Given the description of an element on the screen output the (x, y) to click on. 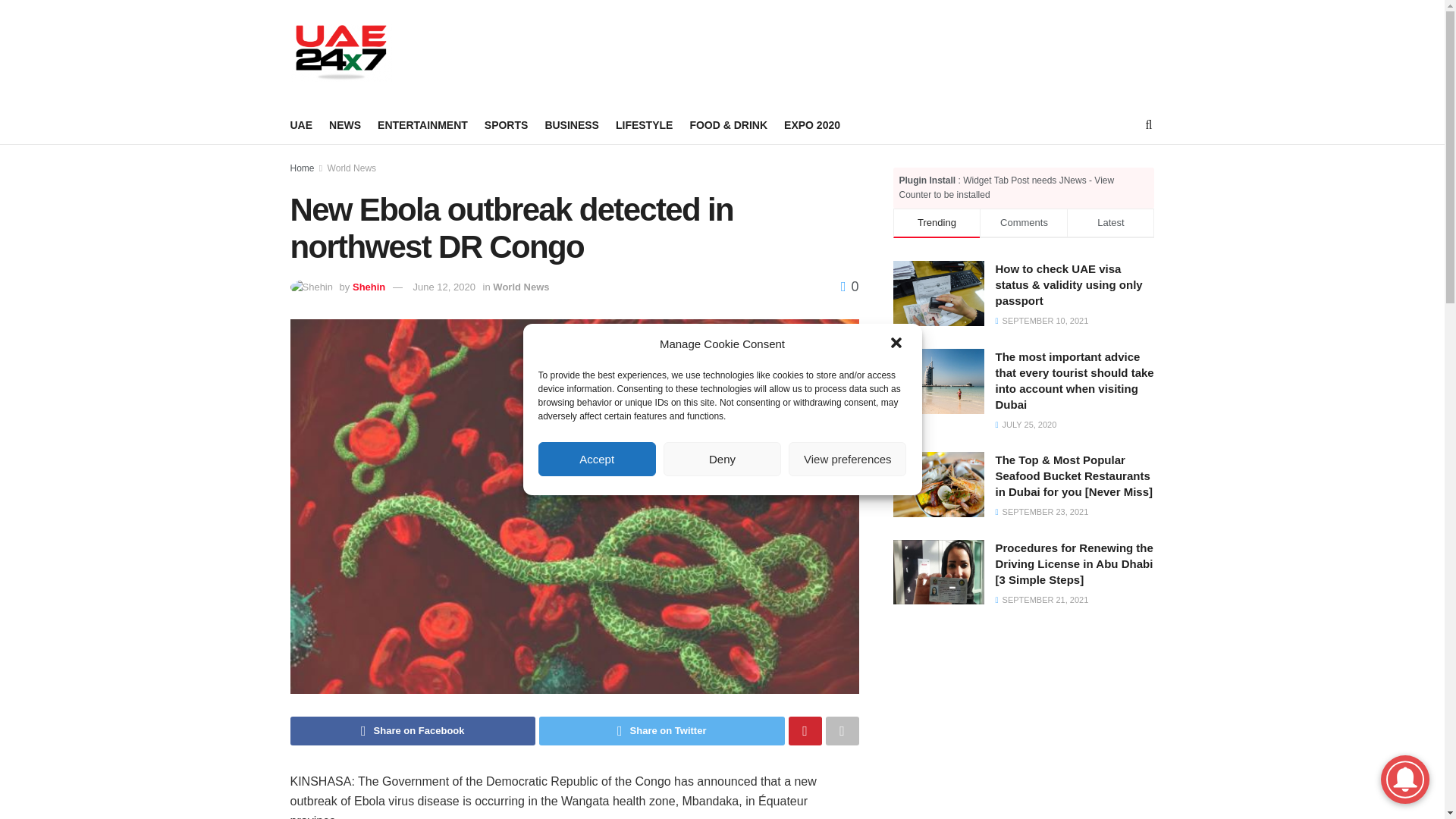
UAE (301, 124)
NEWS (345, 124)
EXPO 2020 (812, 124)
ENTERTAINMENT (422, 124)
Home (301, 167)
Accept (597, 458)
BUSINESS (571, 124)
Advertisement (687, 50)
Expo 2020 (812, 124)
LIFESTYLE (643, 124)
World News (351, 167)
View preferences (847, 458)
SPORTS (506, 124)
Deny (721, 458)
Shehin (368, 286)
